Given the description of an element on the screen output the (x, y) to click on. 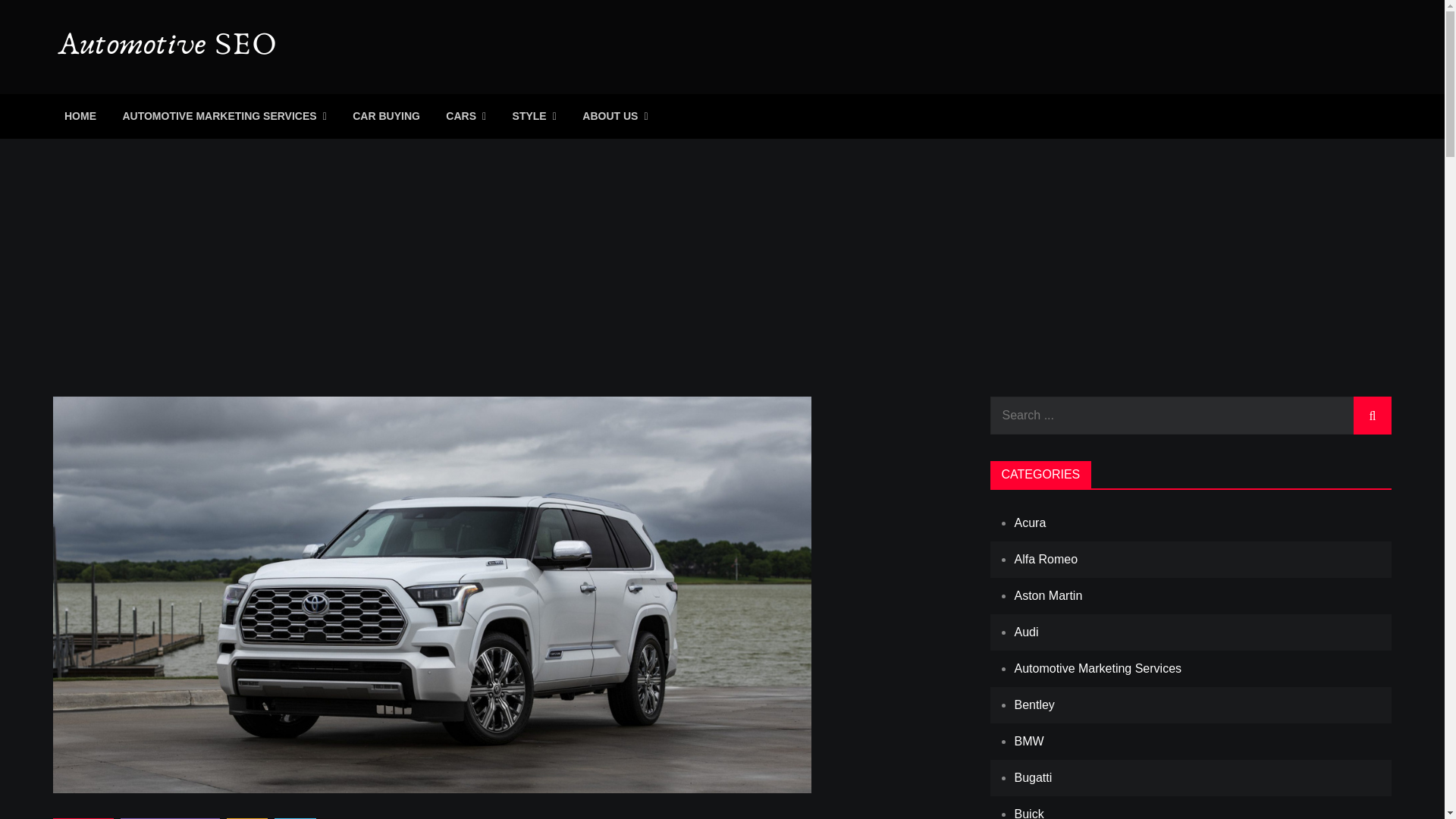
AUTOMOTIVE MARKETING SERVICES (223, 116)
Car Buying (82, 818)
HOME (79, 116)
Automotive SEO (178, 87)
Trucks (295, 818)
Search for: (1190, 415)
CARS (465, 116)
Toyota (247, 818)
ABOUT US (614, 116)
CAR BUYING (385, 116)
STYLE (533, 116)
